Given the description of an element on the screen output the (x, y) to click on. 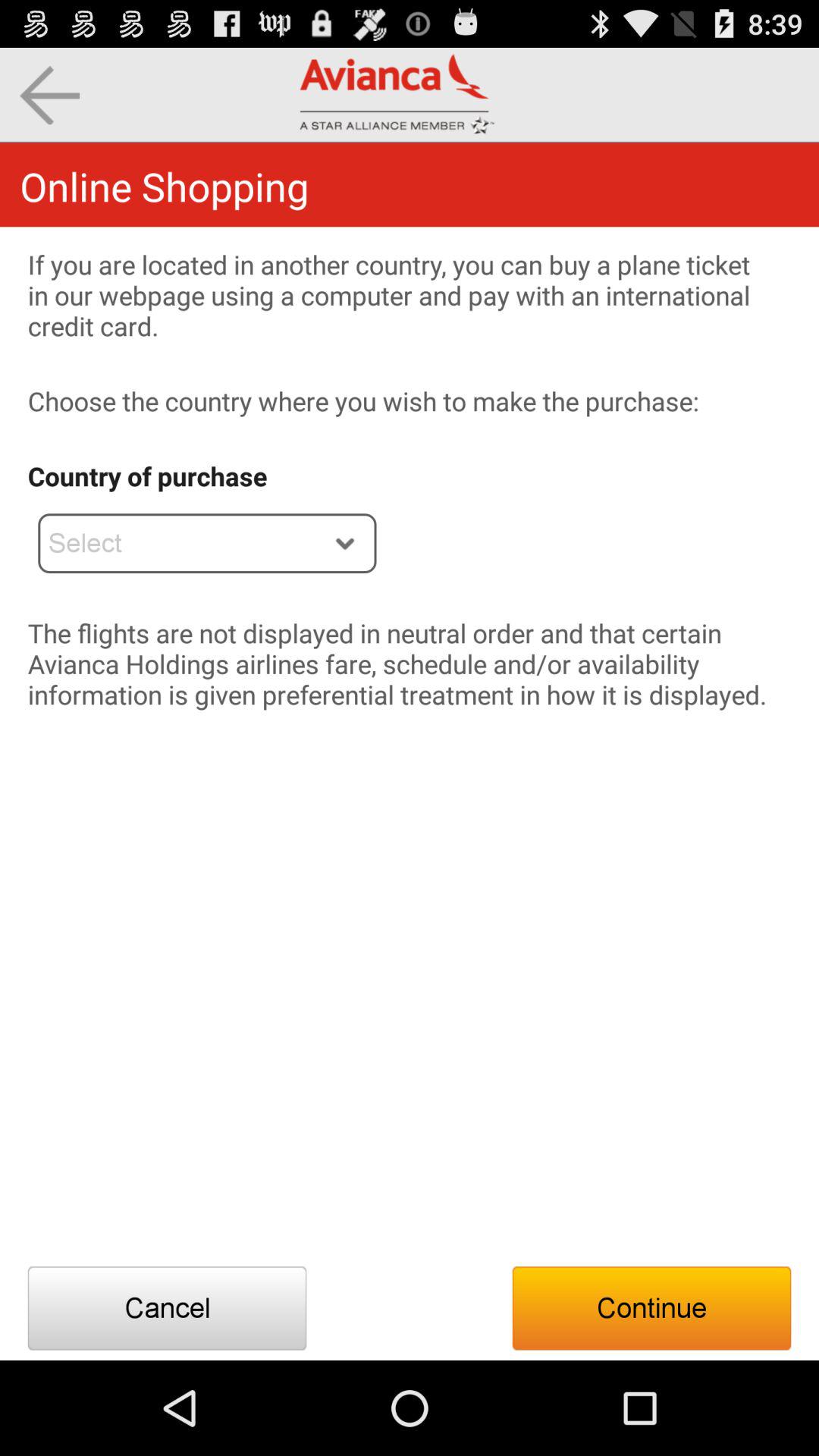
flip until the select icon (207, 543)
